Given the description of an element on the screen output the (x, y) to click on. 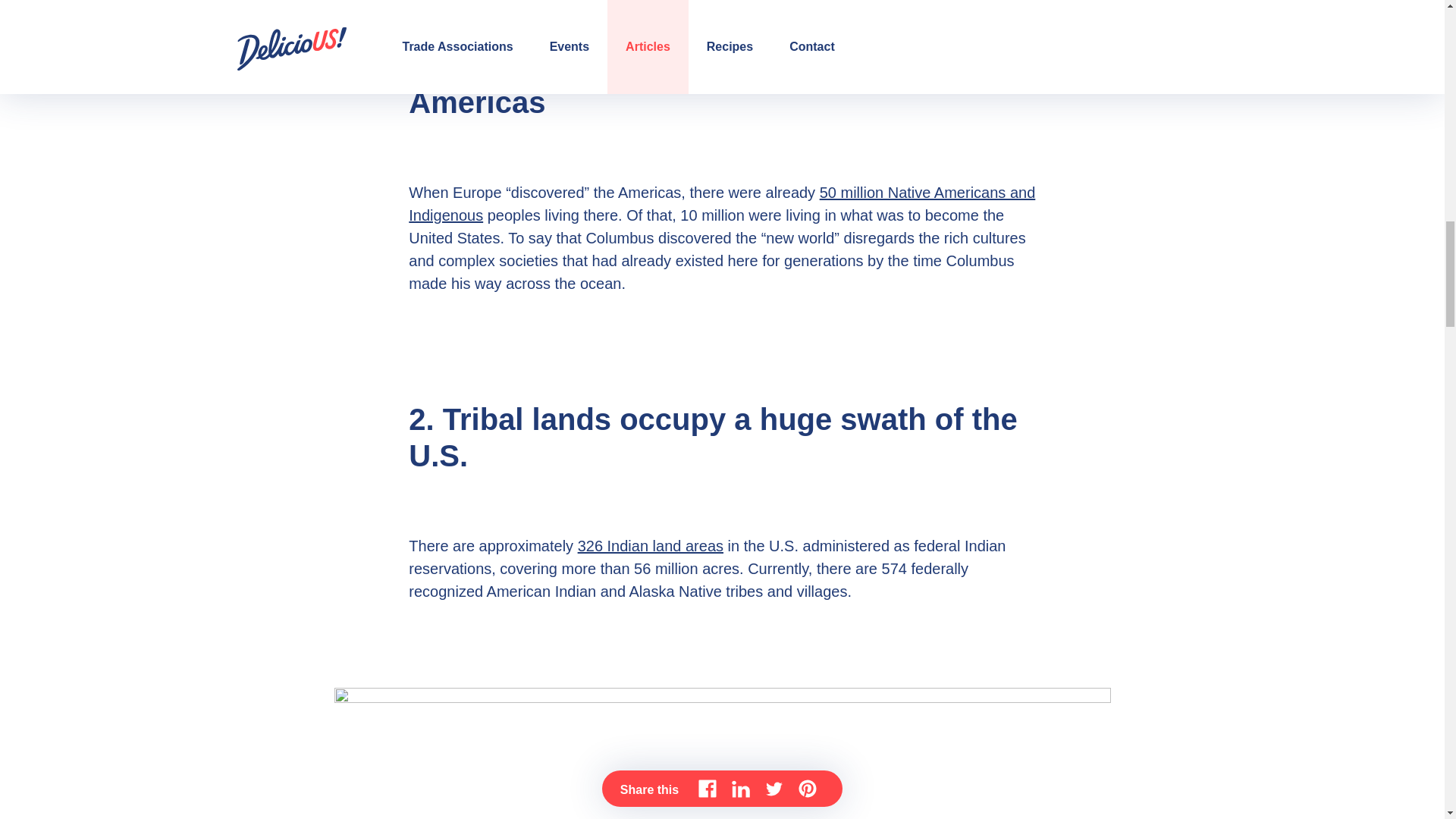
50 million Native Americans and Indigenous (722, 203)
326 Indian land areas (650, 545)
